Given the description of an element on the screen output the (x, y) to click on. 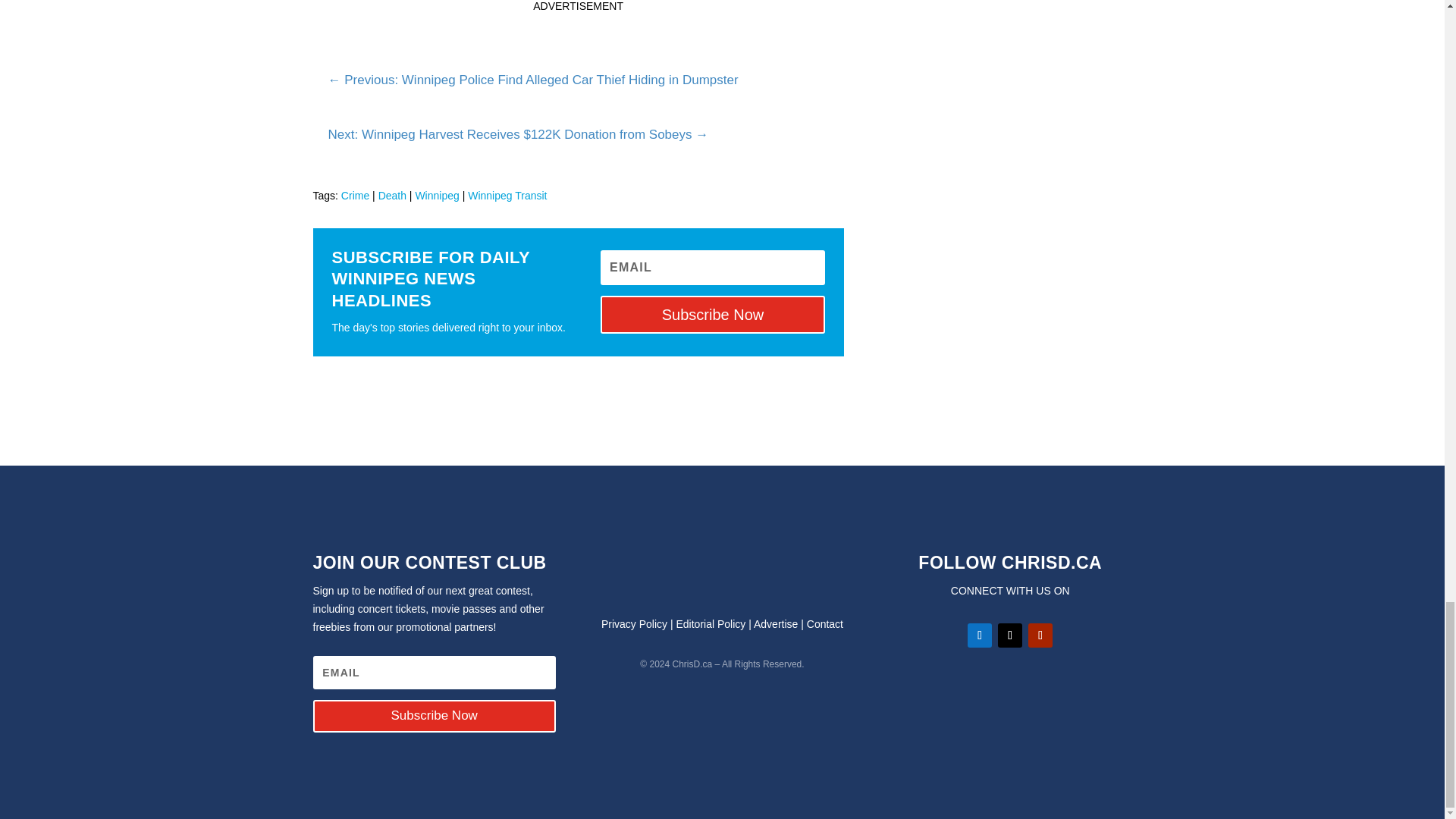
chrisd-logo-footer-300x92 (722, 572)
